Given the description of an element on the screen output the (x, y) to click on. 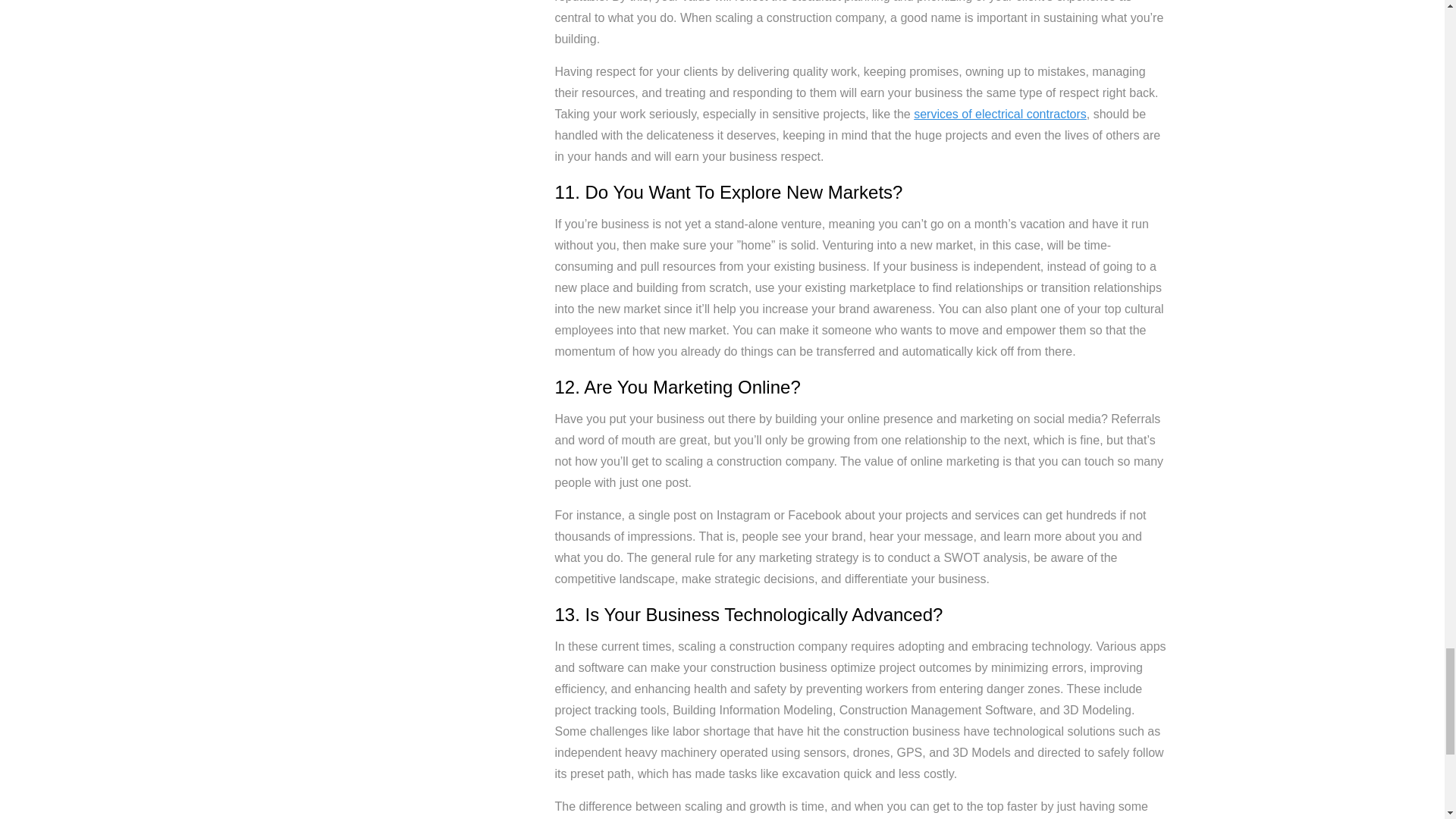
services of electrical contractors (1000, 113)
